Given the description of an element on the screen output the (x, y) to click on. 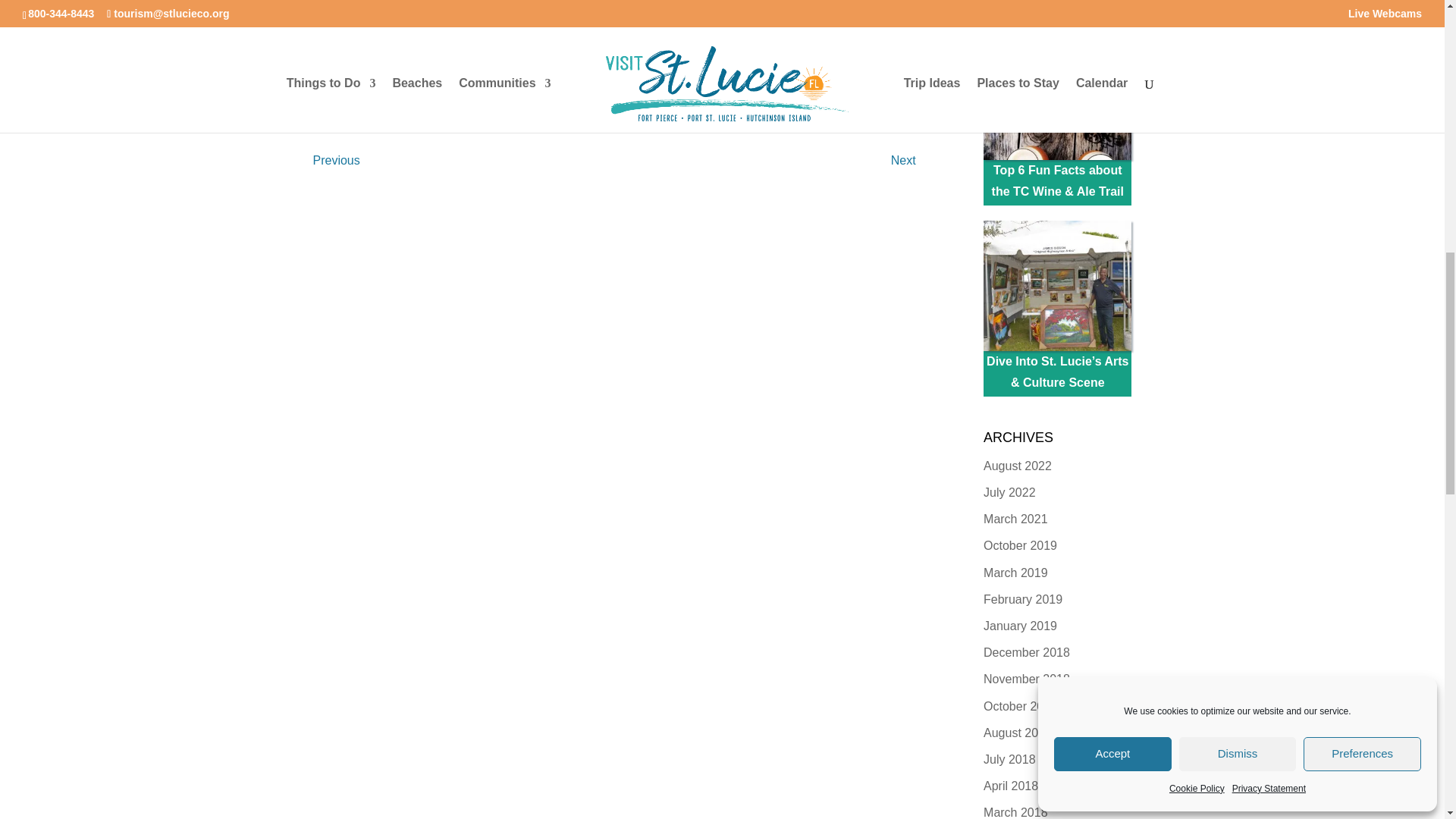
Top Places to EAT! (1057, 15)
